Given the description of an element on the screen output the (x, y) to click on. 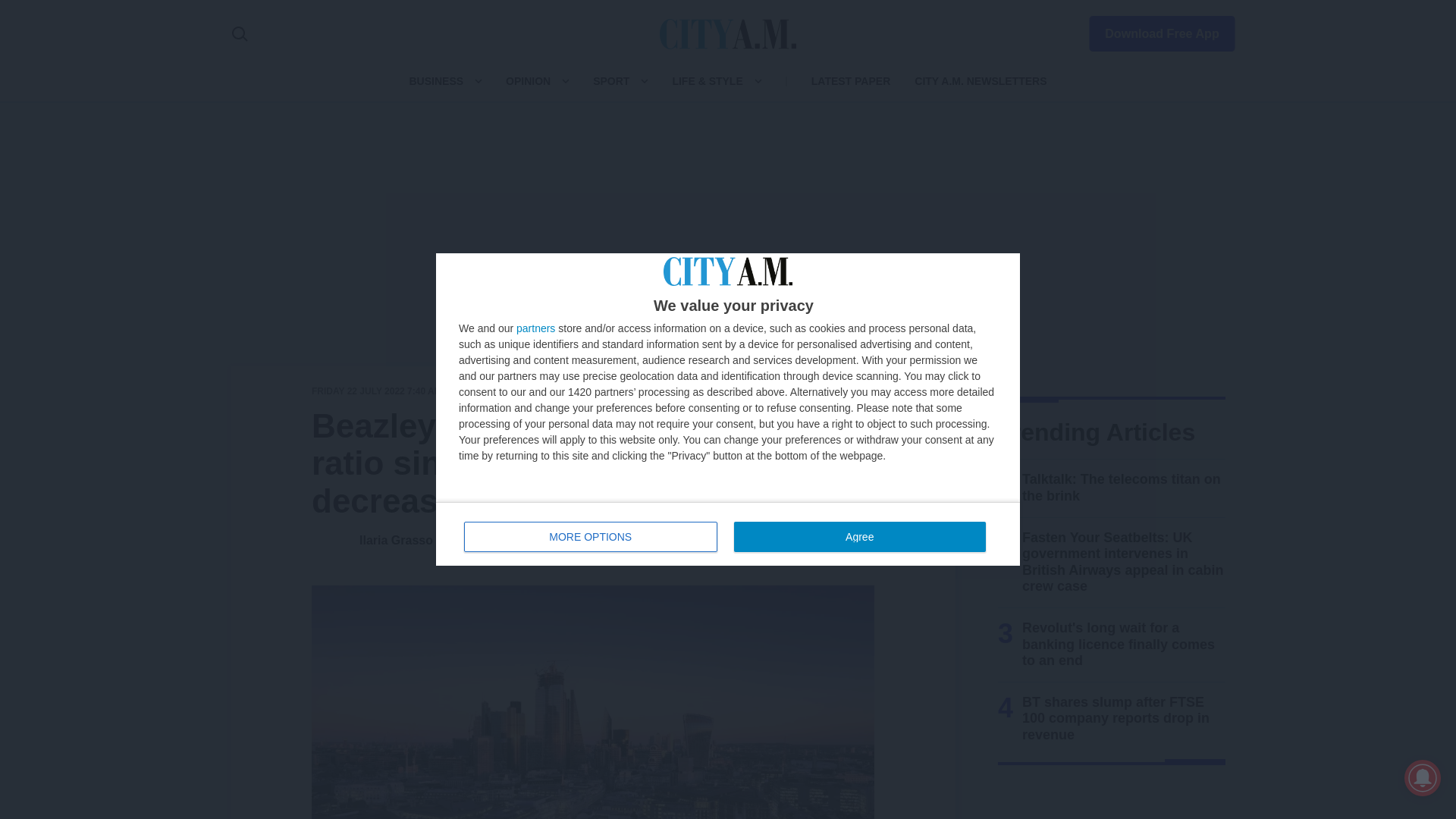
CityAM (727, 33)
OPINION (727, 533)
partners (527, 80)
BUSINESS (535, 327)
MORE OPTIONS (436, 80)
Agree (590, 536)
Download Free App (859, 536)
